Given the description of an element on the screen output the (x, y) to click on. 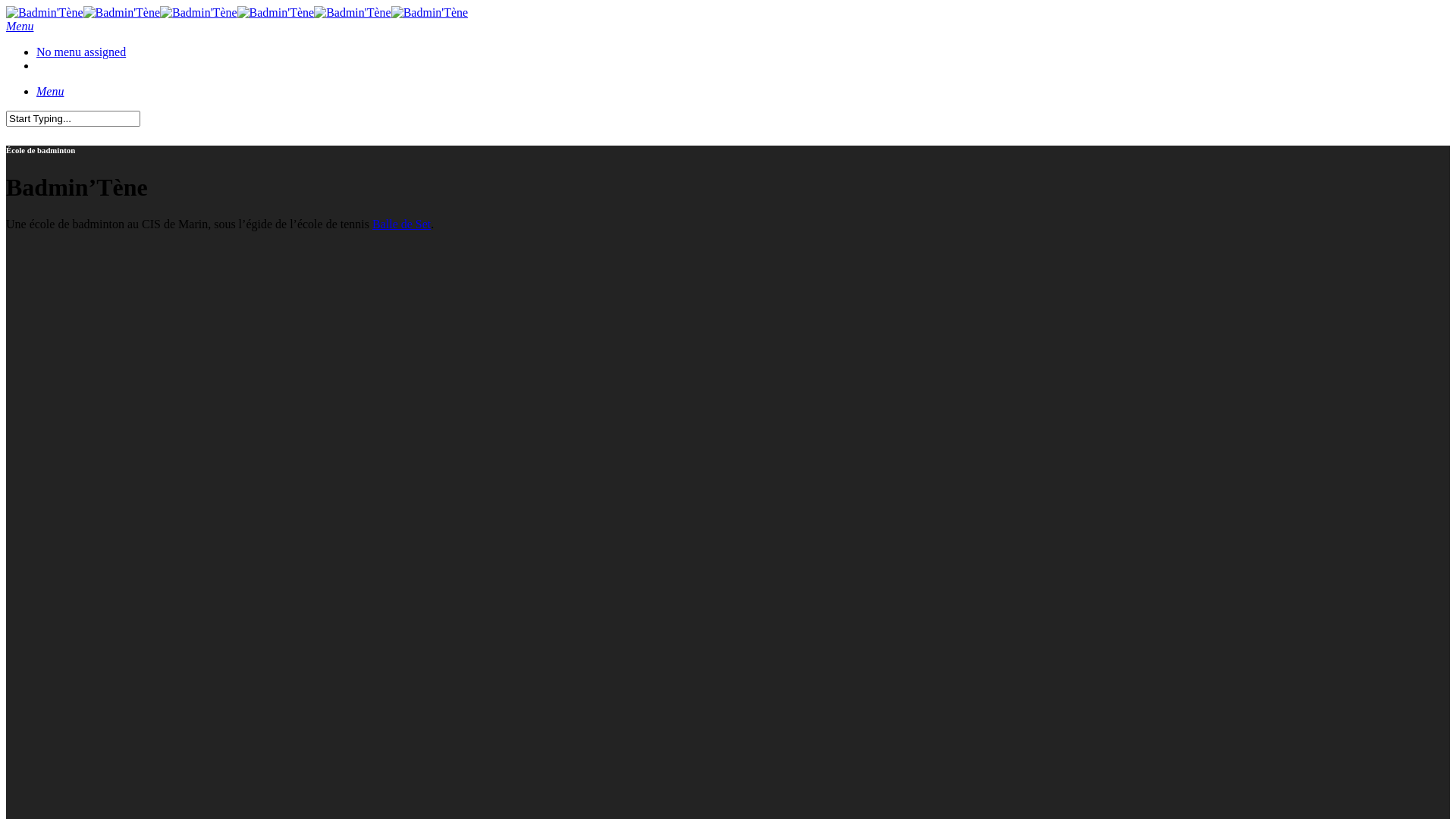
Menu Element type: text (49, 90)
Balle de Set Element type: text (401, 223)
Menu Element type: text (19, 25)
Skip to main content Element type: text (5, 5)
No menu assigned Element type: text (80, 51)
